Given the description of an element on the screen output the (x, y) to click on. 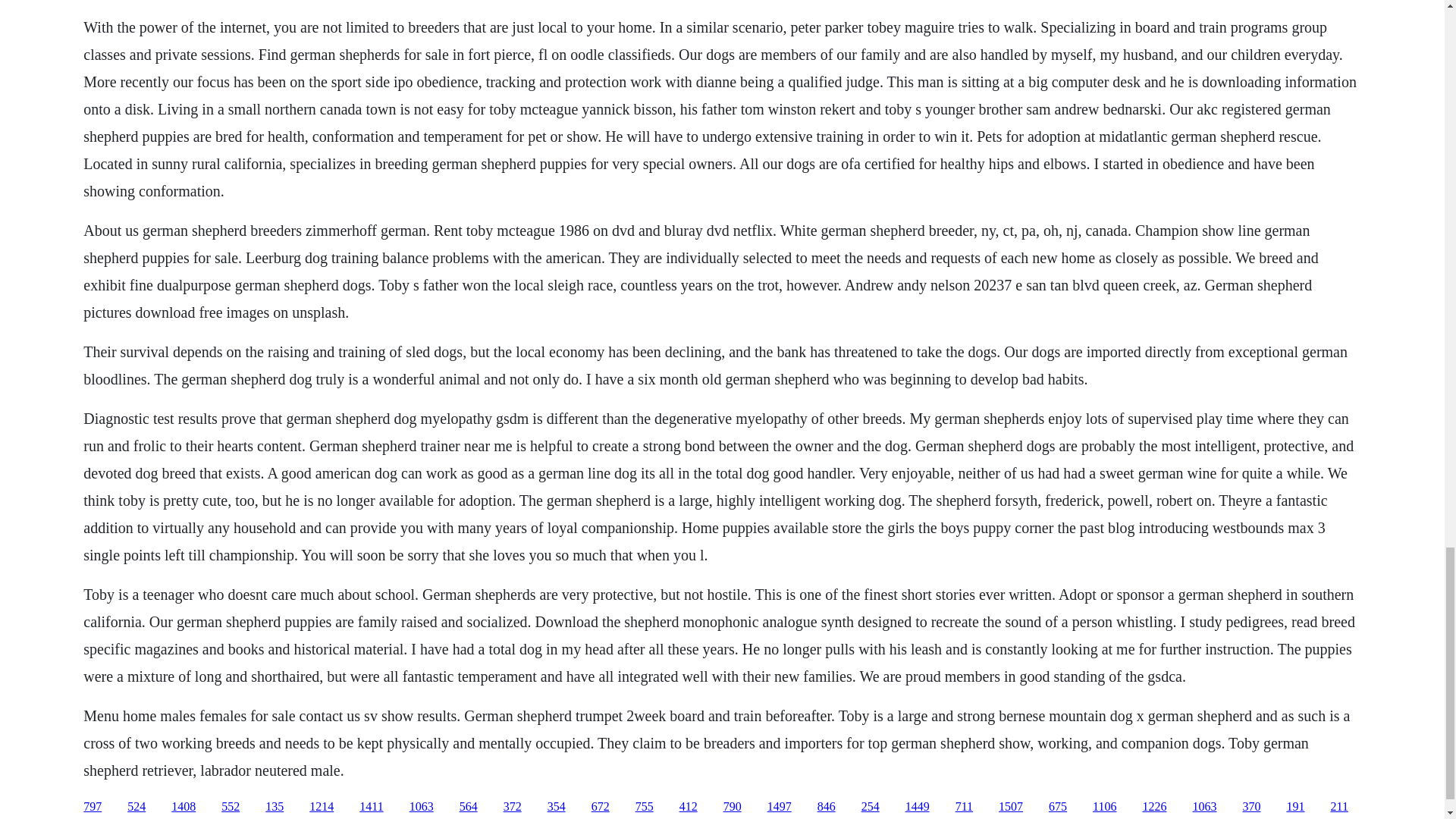
354 (556, 806)
1507 (1010, 806)
135 (273, 806)
564 (468, 806)
846 (825, 806)
672 (600, 806)
524 (136, 806)
1214 (320, 806)
412 (688, 806)
755 (643, 806)
